Given the description of an element on the screen output the (x, y) to click on. 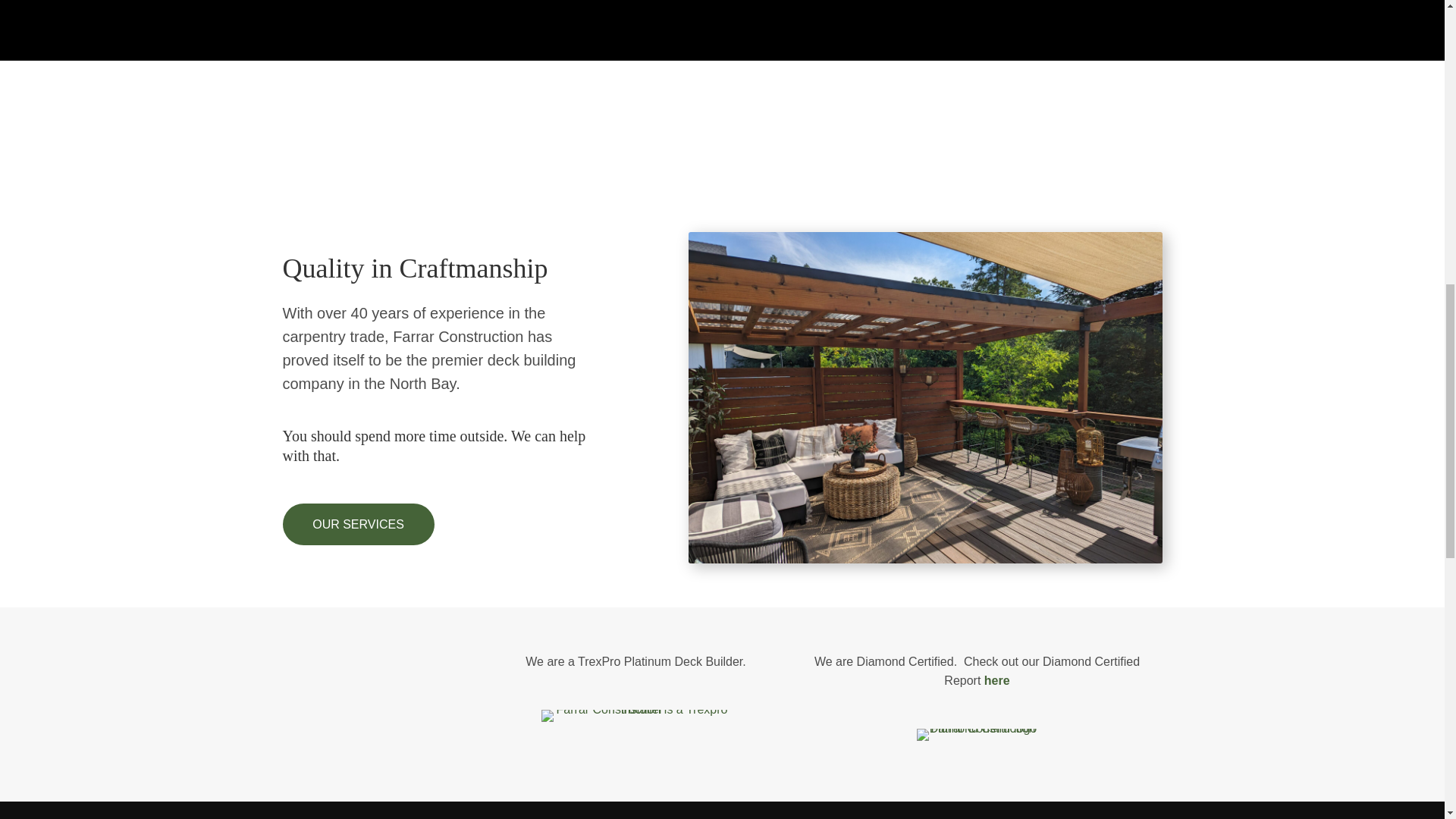
Farrar Construction Diamond Certif logo (975, 734)
OUR SERVICES (357, 524)
trexpro-logo-farrar-construction (635, 715)
here (997, 680)
